Given the description of an element on the screen output the (x, y) to click on. 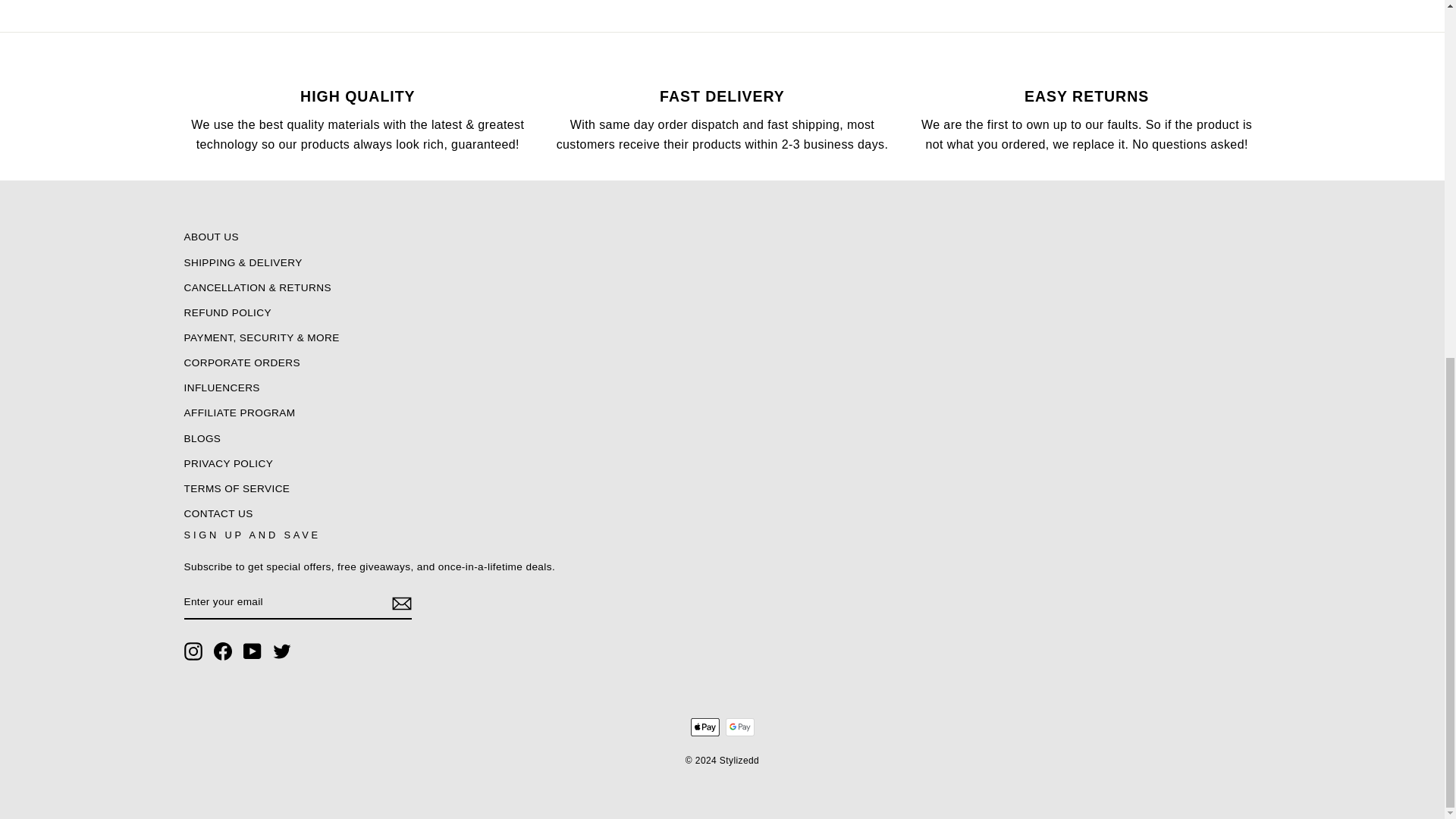
Stylizedd on Twitter (282, 651)
Stylizedd on YouTube (251, 651)
Stylizedd on Instagram (192, 651)
Stylizedd on Facebook (222, 651)
Apple Pay (704, 727)
Google Pay (739, 727)
